Given the description of an element on the screen output the (x, y) to click on. 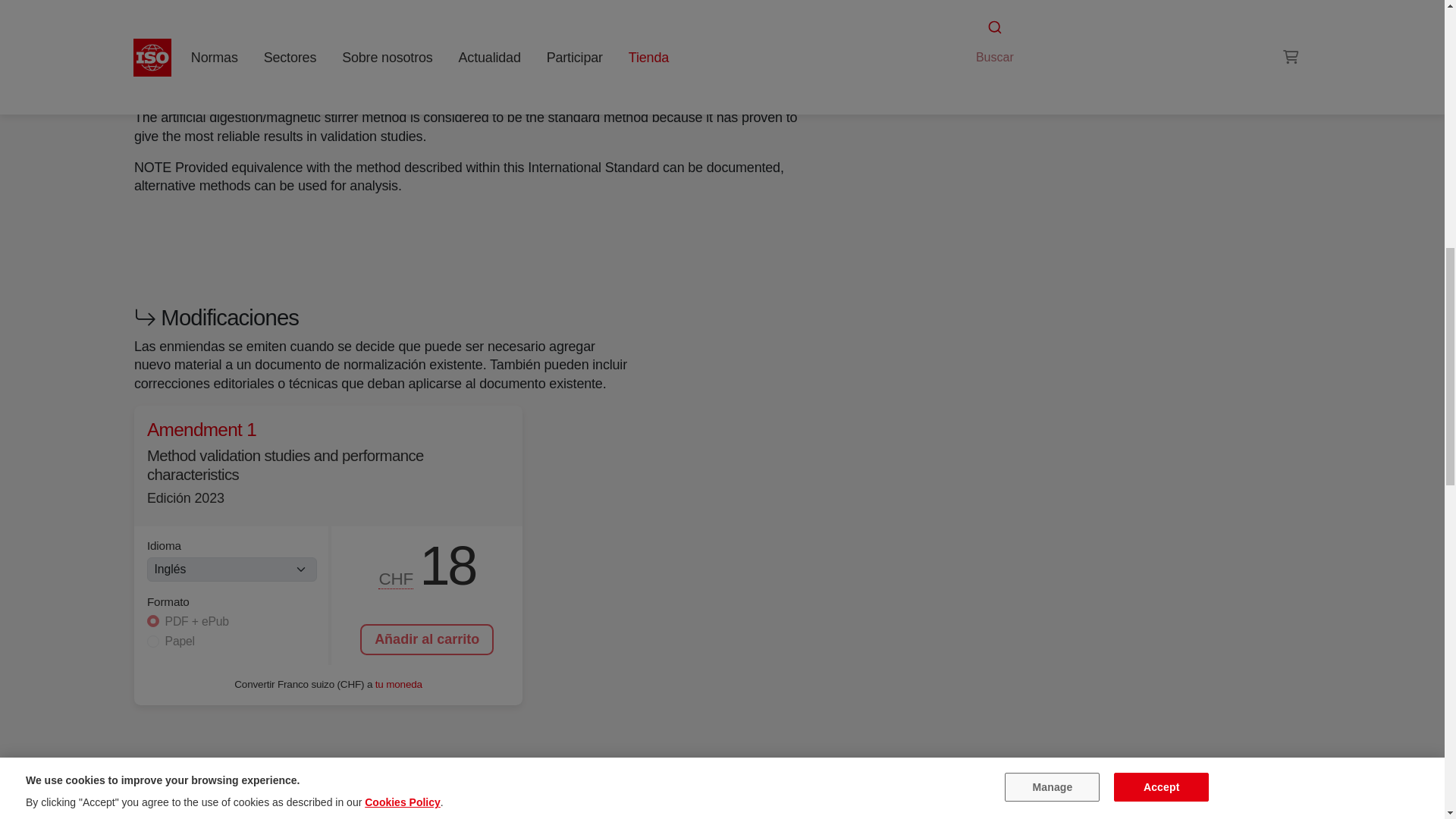
Microbiology (1086, 22)
Food microbiology (997, 40)
